Given the description of an element on the screen output the (x, y) to click on. 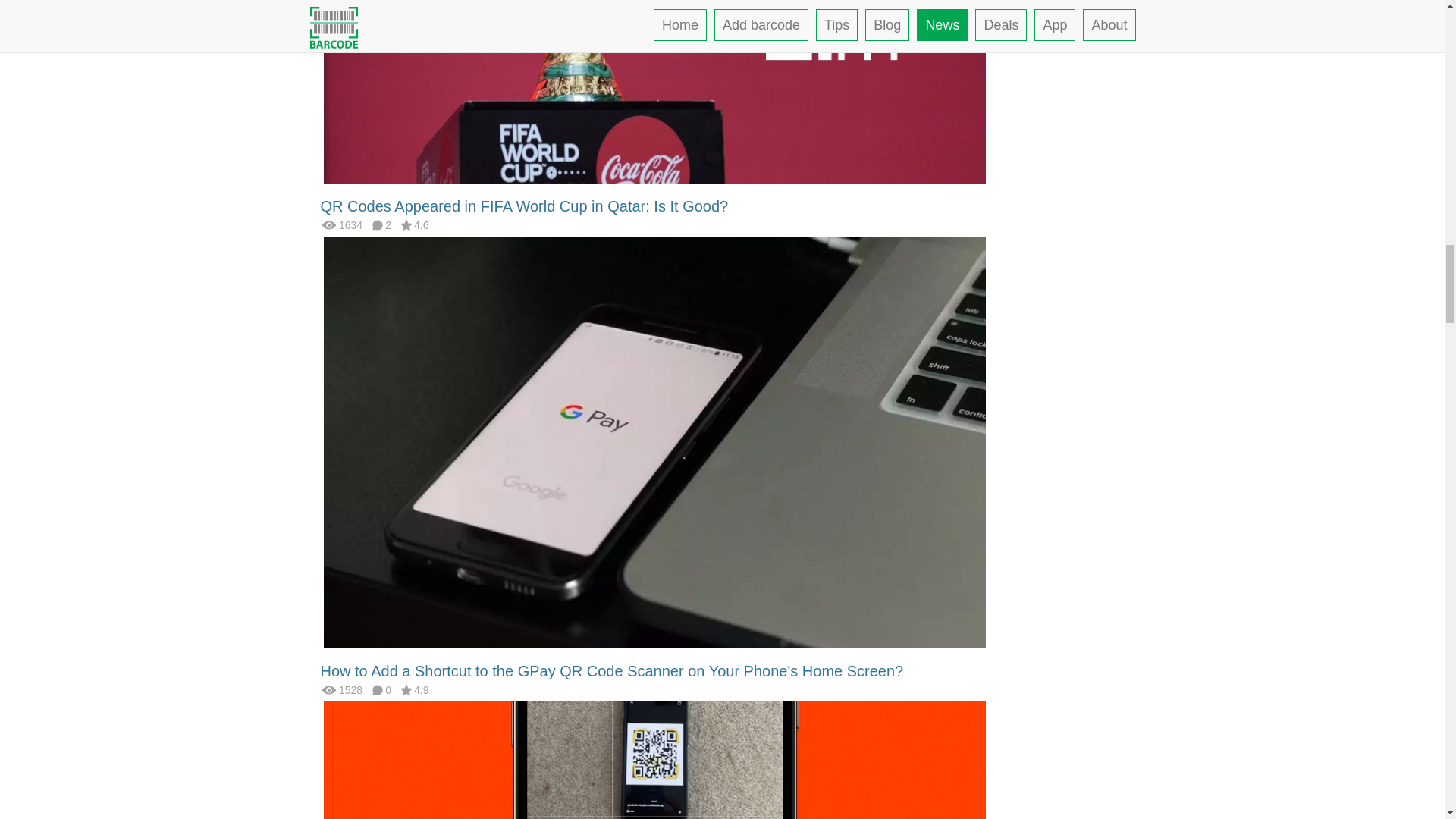
QR Codes Appeared in FIFA World Cup in Qatar: Is It Good? (524, 206)
QR Codes Appeared in FIFA World Cup in Qatar: Is It Good? (524, 206)
